Given the description of an element on the screen output the (x, y) to click on. 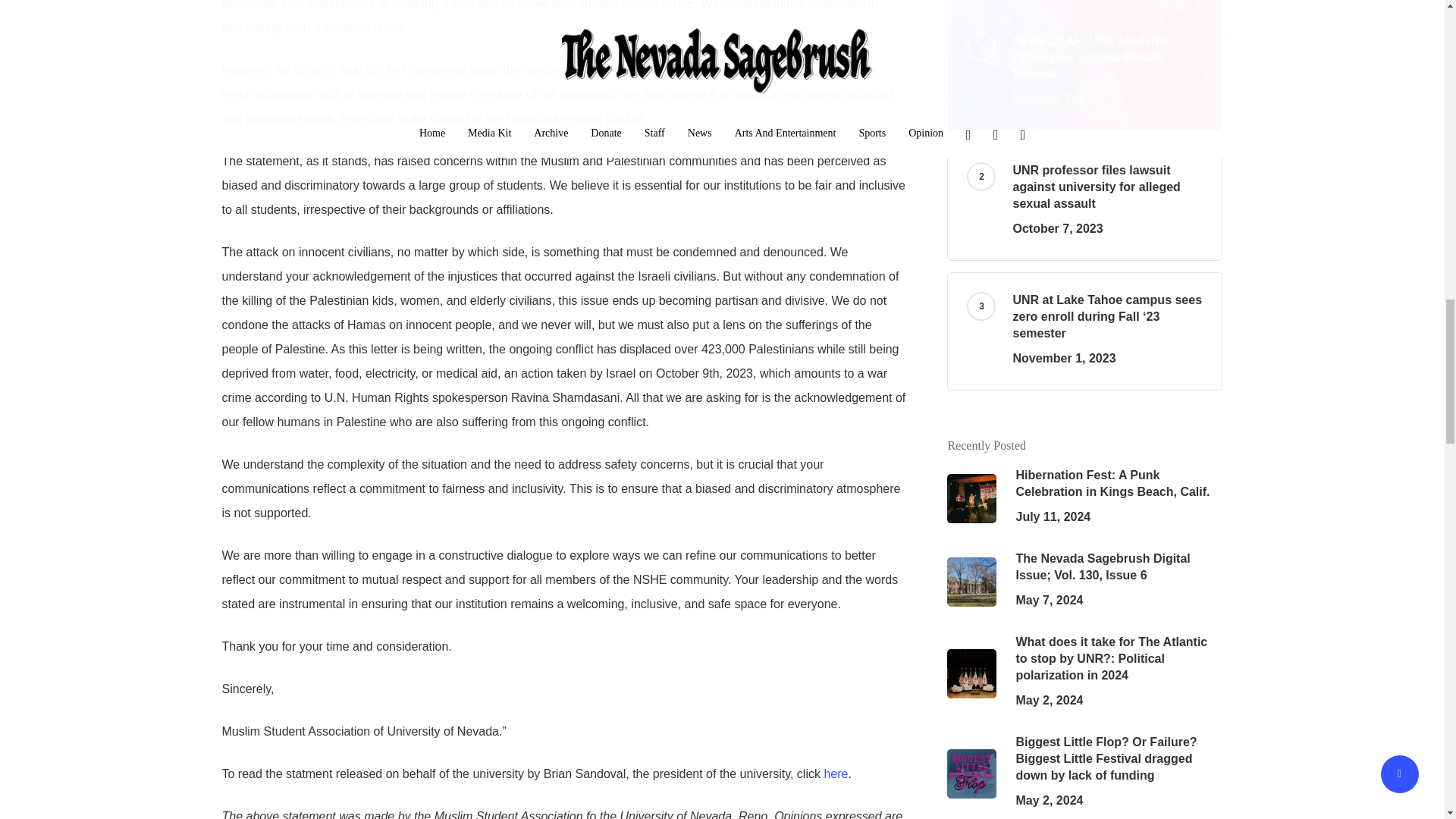
here (835, 773)
